Given the description of an element on the screen output the (x, y) to click on. 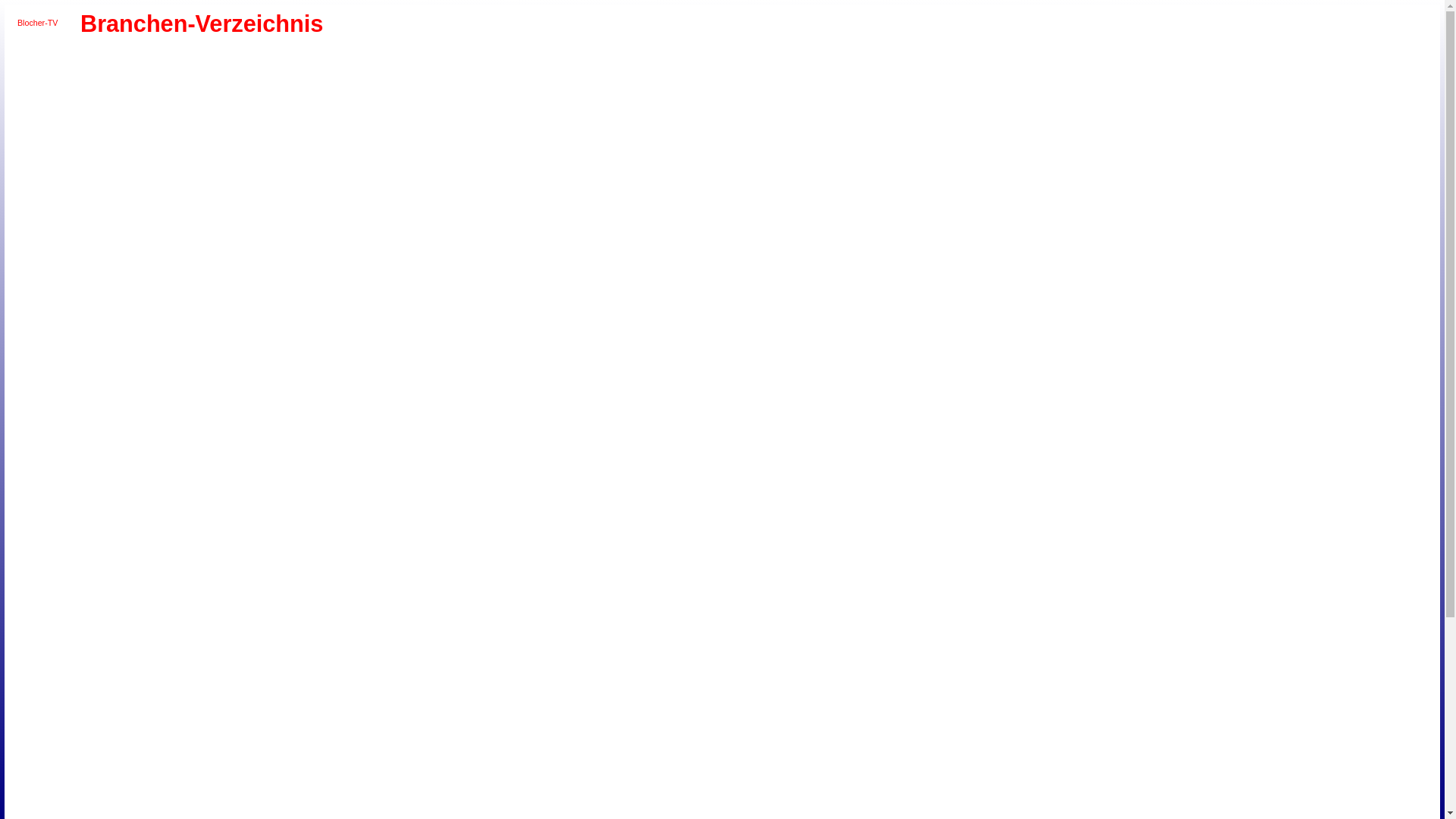
Gasthof Linde  Gelterfingen Restaurant  Element type: hover (494, 513)
Frohsinn Riepl Manfred  Belp Restaurant  Element type: hover (264, 513)
Schmiedstube Kaffeehaus, Bar, Restaurant Thun Restaurant  Element type: hover (335, 793)
Suan Long  Bern Restaurant  Element type: hover (477, 217)
M Restaurant  Freudenberg  Bern Restaurant migros  Element type: hover (140, 182)
Altes Sumpfhaus  Oberburg Restaurant  Element type: hover (87, 653)
Pyramid  Thun Restaurant  Element type: hover (123, 793)
Hier und Jetzt  Bern Restaurant  Element type: hover (370, 130)
nina cucina  Bern Restaurant Partyservice  Element type: hover (158, 287)
Bahnhof Leuenberger Ursula  Kaufdorf Restaurant  Element type: hover (477, 513)
Hospes CCCB  Bern Restaurant  Element type: hover (441, 130)
Landhaus Iseli Hans  Steffisburg Restaurant  Element type: hover (530, 810)
Venezia  Bern Restaurant  Element type: hover (105, 252)
Guntelsey Schneiter Gottfried  Thun Restaurant  Element type: hover (494, 758)
Burgernziel Scartazzini Georges Sa geschl. Bern Restaurant  Element type: hover (282, 77)
Publica  Bern Restaurant  Element type: hover (264, 199)
Fischerei-Park Beyeler Hans (-Diehl)  Worben Restaurant  Element type: hover (193, 566)
SBB Restaurant Grosse Schanze  Bern Restaurant  Element type: hover (176, 234)
Eiger Reusser Andreas  Bern Restaurant  Element type: hover (247, 112)
Bahnhof Simsek Turhan  Toffen Restaurant  Element type: hover (406, 513)
Steinhof Tanner Michaela  Burgdorf Restaurant  Element type: hover (441, 409)
Brasil Steiner Markus  Burgdorf Restaurant  Element type: hover (424, 391)
Irish Tavern Old Pub  Murten Restaurant Bar/Pub  Element type: hover (512, 583)
La Lupa Fernando Chiappini Bern Restaurant  Element type: hover (406, 147)
M-Restaurant Bethlehem  Bern Restaurant migros  Element type: hover (105, 182)
Veranda  Bern Restaurant  Element type: hover (123, 252)
Brunnhof  Bern Restaurant  Element type: hover (211, 77)
Marzilibeach Heinz Rub  Bern Restaurant  Element type: hover (123, 287)
Frohsinn Keller Claudia  Inkwil Restaurant  Element type: hover (176, 636)
Leopard  Bern Restaurant  Element type: hover (158, 165)
National Leuenberger Fam.  Burgdorf Restaurant  Element type: hover (317, 409)
Felsenau Hans u. Marlise Schreyer  Bern Restaurant  Element type: hover (441, 112)
Kornhauskeller  Bern Restaurant  Element type: hover (300, 147)
Kreuz Imper Louis  Lohnstorf Restaurant  Element type: hover (105, 531)
Beaulieu Calvino Manuel  Ostermundigen Restaurant  Element type: hover (317, 304)
Seki Gastro GmbH Restaurant Eintracht  Bern Restaurant  Element type: hover (264, 217)
Falken Hager Robert  Thun Restaurant  Element type: hover (87, 740)
O bolles  Bern Restaurant  Element type: hover (494, 182)
La Torre  Lyss Restaurant  Element type: hover (388, 548)
Kunsteisbahn Grabengut  Thun Restaurant  Element type: hover (229, 775)
Piazzetta  Thun Restaurant  Element type: hover (87, 793)
Meridiano  Bern Restaurant  Element type: hover (512, 165)
Braui  Lyss Restaurant  Element type: hover (282, 548)
Messerestaurant Alte Reithalle  Thun Restaurant  Element type: hover (424, 775)
Bistrot Marzer  Bern Restaurant  Element type: hover (494, 60)
zum Sternen Bigler Bernhard  Oberdiessbach Restaurant  Element type: hover (441, 723)
Bistro Z  Belp Restaurant  Element type: hover (158, 513)
Arcobaleno Perez S.C.  Zollikofen Restaurant  Element type: hover (247, 304)
Bahnhof Sahli Daniel  Kallnach Restaurant  Element type: hover (105, 601)
zum Aeusseren Stand Liechti Gerhard  Bern Restaurant  Element type: hover (370, 252)
Mensa Freies Gymnasium  Bern Restaurant Gymnasium  Element type: hover (494, 217)
Campania  Bern Restaurant  Element type: hover (105, 95)
Peking  Bern Restaurant  Element type: hover (176, 199)
Spiegelpintli Montag geschlossen Spiegel b. Bern Restaurant  Element type: hover (388, 217)
Jansen Gastronomie  Bern Restaurant  Element type: hover (140, 147)
Meried  Niederwangen b. Bern Restaurant  Element type: hover (317, 322)
SV (Schweiz) AG Mensa Berufsschulen Thun Thun Restaurant  Element type: hover (512, 793)
Tscharnergut Elmar Schmutz  Bern Restaurant  Element type: hover (494, 234)
Falken Mancini Simona  Aarberg Restaurant  Element type: hover (335, 583)
McDonald's  Thun Restaurant  Element type: hover (388, 775)
Rossini  Bern Restaurant  Element type: hover (87, 217)
Lorenzini  Bern Restaurant  Element type: hover (229, 165)
Waldrand-Beizli Othmar Zahnd  Thun Restaurant  Element type: hover (176, 810)
M-Restaurant Chly Wabere  Wabern Restaurant migros  Element type: hover (123, 182)
Alpen  Ostermundigen Restaurant  Element type: hover (193, 304)
Weyerli  Bern Restaurant  Element type: hover (424, 287)
Beluga Swiss-Thai-Pub Gwatt (Thun) Restaurant  Element type: hover (441, 740)
La Luna  Bern Restaurant  Element type: hover (370, 147)
Treffpunkt Kaserne Bern Bern Restaurant  Element type: hover (477, 234)
Im Juli  Bern Restaurant  Element type: hover (512, 130)
zur Krone Zilic Adolf  Lyssach Restaurant  Element type: hover (530, 409)
caffessano  Thun Restaurant  Element type: hover (158, 758)
Il Padrino Restaurant Bern Restaurant  Element type: hover (459, 130)
McDonald's  Bern Restaurant  Element type: hover (388, 165)
Badhaus Grgic Ilija  Ittigen Restaurant  Element type: hover (282, 304)
Glungge Kafi Pub  Kirchberg BE Restaurant Bar/Pub  Element type: hover (123, 426)
ds'Bistro  Bolligen Restaurant  Element type: hover (530, 304)
Thalgut Fam. P. Hodler (-Krebs)  Gerzensee Restaurant  Element type: hover (477, 496)
Lachen Cafe Bar Thun Restaurant  Element type: hover (247, 775)
Dampfzentrale GmbH  Bern Restaurant Tischreservation online  Element type: hover (459, 95)
Wildeney Bad  Bowil Restaurant  Element type: hover (441, 670)
Grauholz  Ittigen Restaurant  Element type: hover (247, 130)
Bahnhof Guggisberg Karl  Ramsei Restaurant  Element type: hover (176, 653)
la Gioia  Bern Restaurant  Element type: hover (353, 147)
z. Kreuz Bucheli Peter  Zollikofen Restaurant  Element type: hover (229, 252)
Steingrube Krebs Therese Oberburg Restaurant  Element type: hover (140, 705)
Flugplatz  Bleienbach Restaurant  Element type: hover (105, 391)
Blockhaus  Niederried b. Kallnach Restaurant  Element type: hover (123, 601)
Union  Bern Restaurant  Element type: hover (530, 234)
Sagi Pub  Bolligen Restaurant Bar/Pub  Element type: hover (264, 287)
Casino Bern  Bern Restaurant casino  Element type: hover (211, 95)
Adler  Riggisberg Restaurant  Element type: hover (176, 531)
Stockeren Cafe-Restaurant Wichtrach Restaurant  Element type: hover (459, 217)
Kreuz Wallimann Susanne  Oberhofen am Thunersee Restaurant  Element type: hover (211, 775)
z. Sternen Bill Erika Sa + So geschl. Hindelbank Restaurant  Element type: hover (264, 618)
Chin-Chin  Burgdorf Restaurant  Element type: hover (87, 409)
Rimini Trattoria Renzi Claudio  Thun Restaurant  Element type: hover (247, 793)
Restaubistrobar gut gelaunt Ralf Jansen  Bern Restaurant  Element type: hover (353, 199)
McDonald's  Bern Restaurant  Element type: hover (424, 165)
Restaurant Grosse Schanze  Bern Restaurant  Element type: hover (264, 234)
Sternen Sternenzentrum Walkringen Walkringen Restaurant  Element type: hover (300, 723)
Oase Filisetti Doris Kirchberg BE Restaurant  Element type: hover (158, 426)
Road Cafe  Lyss Restaurant  Element type: hover (494, 548)
Restaurant Storchen   Wiler b. Utzenstorf Restaurant  Element type: hover (87, 444)
Bistro Bruno  Bern Restaurant  Element type: hover (424, 60)
Utiger Tschumi Adrian Mi geschl. Moosseedorf Restaurant  Element type: hover (158, 304)
Menziwilegg AG Fam. D. Arm (-Liechti)  Utzigen Restaurant  Element type: hover (512, 461)
Gyri Berisa Agatha  Burgdorf Restaurant  Element type: hover (229, 409)
Eisblume  Worb Restaurant  Element type: hover (140, 479)
Ischlag Fam. Morgenthaler  Grasswil Restaurant Tea-Room  Element type: hover (424, 374)
Spatz Bangerter Regina Hotel Lyss Restaurant  Element type: hover (548, 548)
Swiss Bistro Rodrigues Nobrega  Lyss Restaurant  Element type: hover (87, 566)
Classic Bar  Bern Restaurant  Element type: hover (335, 95)
Drei Eidgenossen  Bern Restaurant  Element type: hover (370, 269)
Groggi Tea Room Herzogenbuchsee Restaurant  Element type: hover (441, 618)
Cafe Rotondo  Thun Restaurant  Element type: hover (87, 758)
La Terrasse  Bern Restaurant  Element type: hover (477, 147)
Musig-Bistrot Monbijou  Bern Restaurant  Element type: hover (282, 182)
Sommerhaus  Burgdorf Restaurant  Element type: hover (406, 409)
El Dorado Gasthof So. geschl. Utzigen Restaurant  Element type: hover (477, 461)
Shams El Baqqali Rachid  Bern Restaurant  Element type: hover (282, 217)
Il Ristorantino  Bern Restaurant  Element type: hover (494, 130)
Serendib /Scharfen Ecken So-Mo Gesch. Burgdorf Restaurant  Element type: hover (388, 409)
Primavera Emini Agim  Thun Restaurant  Element type: hover (105, 793)
Rebstock Besim Asani  Zollikofen Restaurant  Element type: hover (370, 322)
Carpe diem Bistro Bern Restaurant  Element type: hover (123, 95)
Toutvent AG Restaurationsbetriebe  Thun Restaurant  Element type: hover (335, 810)
Gasthof zur Linde Knab Peter 7 Tage offen Belp Restaurant  Element type: hover (282, 513)
Taipan  Thun Restaurant  Element type: hover (530, 793)
Noodles Casa Della Pasta Thun Restaurant  Element type: hover (530, 775)
Rathaus  Thun Restaurant  Element type: hover (176, 740)
Du Nord  Bern Restaurant  Element type: hover (176, 112)
Blocher-TV Element type: text (37, 22)
Restaurant Storchen  Wiler b. Utzenstorf Restaurant  Element type: hover (105, 444)
Hooters Restaurant  Thun Restaurant  Element type: hover (105, 775)
Freienhof Gasthof Fam. Th. Schelling  Hellsau Restaurant  Element type: hover (123, 444)
zu Metzgern Mo geschl. Thun Restaurant  Element type: hover (264, 810)
Truten-Pintli  Detligen Restaurant  Element type: hover (459, 339)
Burehuus  Thun Restaurant  Element type: hover (512, 740)
Aarbergerhof  Bern Restaurant  Element type: hover (158, 269)
Personalrestaurant Post Schanzenpost  Bern Restaurant  Element type: hover (512, 217)
zum Tempel  Thun Restaurant  Element type: hover (300, 810)
Commerce A. u. R. Pacheco  Bern Restaurant  Element type: hover (353, 95)
Panorama Fuchs Karl Mo u. Di geschl. Steffisburg Restaurant  Element type: hover (370, 810)
Restaurant Ratskeller  Bern Restaurant  Element type: hover (406, 199)
Pastificeria La Tavola  Bern Restaurant  Element type: hover (140, 199)
Tien Tien  Bern Restaurant  Element type: hover (424, 234)
Sonne Iseli Beat  Kallnach Restaurant  Element type: hover (193, 601)
Thai's Restaurant Keller Jaree  Bern Restaurant  Element type: hover (370, 234)
Restaurant Treffpunkt  Bern Restaurant  Element type: hover (193, 147)
Bad Stauffer Willy (-Delfini)  Herzogenbuchsee Restaurant  Element type: hover (370, 618)
Sternen Steuri Peter  Langnau i. E. Restaurant  Element type: hover (335, 670)
Kreuz Wyss Heidi (-Hauert)  Grossaffoltern Restaurant  Element type: hover (477, 566)
Bistro-Bar 106,0 MHZ  Langnau i. E. Restaurant  Element type: hover (264, 653)
Bahnhofbuffet Espresso  Burgdorf Restaurant  Element type: hover (370, 391)
Rendez-vous Walther Priska  Wangen an der Aare Restaurant  Element type: hover (300, 636)
Tanne  Zollikofen Restaurant  Element type: hover (406, 339)
M-Restaurant Marktgasse  Bern Restaurant migros  Element type: hover (158, 182)
Manora Jura  Bern Restaurant  Element type: hover (370, 165)
Gasthof Rosegg Glanzmann Beat  Schangnau Restaurant  Element type: hover (406, 653)
Platanenhof Gerardo Petrilli Kirchberg BE Restaurant  Element type: hover (176, 426)
Morillon  Bern Restaurant  Element type: hover (229, 182)
Tivoli Dogar GmbH  Worblaufen Restaurant  Element type: hover (459, 234)
Ka-We-De Sportgastro GmbH  Bern Restaurant  Element type: hover (229, 147)
Kirchenfeld Rota Maurice und Charlotte  Bern Restaurant  Element type: hover (247, 147)
Eintracht Gataric Nenad  Bern Restaurant  Element type: hover (264, 112)
McDonald's  Bern Restaurant  Element type: hover (406, 165)
Romantic  Thun Restaurant  Element type: hover (264, 793)
Zum blauen Engel  Bern Restaurant  Element type: hover (406, 252)
zum Bahnhof Tschanz Margreth Gasthof Brenzikofen Restaurant  Element type: hover (406, 723)
Sonne Graber Bernhard (-Henggi)  Aarberg Restaurant  Element type: hover (229, 583)
Beau Rivage Domenico Zaccaria GmbH  Thun Restaurant  Element type: hover (512, 723)
Smart Suko Rolli Gabriele u. Rolli Ricardo  Bern Restaurant  Element type: hover (300, 217)
Grill-Egge Marti  Bern Restaurant Tea-Room  Element type: hover (494, 269)
zum Seefeld Wyss Annemarie  Thun Restaurant  Element type: hover (282, 810)
Spinnrad Steiner Markus  Bern Restaurant  Element type: hover (406, 217)
Sternen Weibel Walter Metzger  Dotzigen Restaurant  Element type: hover (370, 356)
Sternen  Konolfingen Restaurant  Element type: hover (282, 723)
Fulehung Pizzeria-Trattoria Thun Restaurant Pizza  Element type: hover (459, 758)
Luce  Bern Restaurant  Element type: hover (282, 165)
DIXIE Chez Salah Bern Restaurant  Element type: hover (87, 112)
Kreuz Burkhalter Fritz  Ersigen Restaurant  Element type: hover (282, 426)
Sous Soul Restaurant Bar Club Bern Restaurant  Element type: hover (335, 217)
Chinois Peking  Bern Restaurant  Element type: hover (282, 95)
Arts  Thun Restaurant  Element type: hover (335, 740)
Alpenblick von Planta Silvio (-Schneiter)  Thun Restaurant  Element type: hover (247, 740)
Post Moser Anna-Marie  Dieterswil Restaurant  Element type: hover (424, 566)
Newstyle Restaurant Tanaka  Kehrsatz Restaurant  Element type: hover (441, 182)
Casa Novo GmbH  Bern Restaurant  Element type: hover (193, 95)
Vatter Der logische Supermarkt Bern Restaurant Bioprodukte  Element type: hover (548, 234)
Im Visier GmbH  Thun Restaurant  Element type: hover (123, 775)
Restaurants Ascom  Bern Restaurant  Element type: hover (353, 287)
Strandbad Thun Goetz Roger  Thun Restaurant Strandbad  Element type: hover (494, 793)
Mani's coffee + wine bar GmbH  Thun Restaurant  Element type: hover (353, 775)
Bitter Sweet Bar Bern Restaurant  Element type: hover (530, 60)
Kreuz Bucheli Peter  Zollikofen Restaurant  Element type: hover (211, 322)
Emberg zur Pinte  Steffisburg Restaurant  Element type: hover (494, 810)
Azzurro Terra e Mare  Bern Restaurant  Element type: hover (140, 60)
Kreuz Raemy Daniel  Kappelen Restaurant  Element type: hover (477, 583)
Hasle-Pinte Oester Ernst  Hasle b. Burgdorf Restaurant  Element type: hover (459, 653)
Cafe-Bar Sous-Sol  Bern Restaurant  Element type: hover (548, 77)
Frohsinn Schmid Petra (-Hartmann)  Willadingen Restaurant  Element type: hover (317, 426)
Coffee-Shop 'Young'  Burgdorf Restaurant  Element type: hover (123, 409)
Sportplatz Sportverein Wander AG  Bern Restaurant  Element type: hover (441, 217)
zur Linden Thierstein Urs  Linden Restaurant  Element type: hover (477, 723)
Linde  Kaufdorf Restaurant  Element type: hover (512, 513)
Laufenbad Krainer Rudolf  Krauchthal Restaurant  Element type: hover (229, 322)
Bahnhof Doris Blindenbacher  Oberburg Restaurant  Element type: hover (158, 653)
Tam Nak Thai  Oberburg Restaurant  Element type: hover (370, 670)
zur alten Post Familie Pengsakul-Spycher  Bern Restaurant  Element type: hover (441, 252)
Seeland Beizli  Suberg Restaurant  Element type: hover (530, 566)
Brunnenhof Grill Zelimir Ivankovic  Element type: hover (176, 618)
Peking  Bern Restaurant  Element type: hover (158, 199)
Selina Gastro Thun GmbH Express 2001  Thun Restaurant  Element type: hover (406, 793)
Schwimmbad Kiosk  Kirchberg BE Restaurant Schwimmbad  Element type: hover (211, 426)
National Petrovic Milan  Herzogenbuchsee Restaurant  Element type: hover (477, 618)
Il Caffe  Langnau i. E. Restaurant  Element type: hover (512, 653)
A1 Western Saloon GmbH  Ostermundigen Restaurant  Element type: hover (264, 304)
zur Pinte  Jegenstorf Restaurant  Element type: hover (388, 374)
zur Linde Brudermann Peter  Kirchlindach Restaurant  Element type: hover (512, 339)
Kreuz Fam. W. Kunz (-Gassmann)  Grafenried Restaurant  Element type: hover (317, 601)
BURGER KING Direkt am Hauptbahnhof SBB Bern Restaurant  Element type: hover (264, 77)
Interstate Bar Bern Restaurant  Element type: hover (87, 147)
Dream Valley Saloon Fam. Fahrni  Schwarzenegg Restaurant  Element type: hover (335, 758)
Casino Mi-So ab 17h Burgdorf Restaurant casino  Element type: hover (548, 391)
Kreuz  Dotzigen Restaurant  Element type: hover (388, 356)
Murizentrum Zwingli Ella  Muri b. Bern Restaurant  Element type: hover (353, 322)
z. Hirschen Heiniger Willy  Riffenmatt Restaurant  Element type: hover (176, 548)
Rosegg Gasthof Glanzmann Beat  Schangnau Restaurant  Element type: hover (211, 670)
Rieben  Burgdorf Restaurant  Element type: hover (335, 409)
Seepark  Thun Restaurant  Element type: hover (388, 793)
Harmonie Jeker Marlise  Wiler b. Seedorf Restaurant  Element type: hover (123, 583)
Sonne Schori Peter Mi u. Do geschl. Messen Restaurant  Element type: hover (282, 566)
Sportgastro GmbH  Bern Restaurant  Element type: hover (424, 217)
M-Restaurant Wankdorf  Bern Restaurant migros  Element type: hover (176, 182)
Greenhouse Imboden Roland  Bern Restaurant  Element type: hover (264, 130)
Kreuz-Pintli Galli Rosmarie  Rubigen Restaurant  Element type: hover (229, 479)
Waisenhaus Ristorante Bar Thun Restaurant  Element type: hover (158, 810)
Zebra Lilo Gsell  Bern Restaurant  Element type: hover (264, 252)
Intersport  Ostermundigen Restaurant  Element type: hover (176, 322)
Krummholzbad Familie Sommer  Heimisbach Restaurant  Element type: hover (335, 444)
Kreuz  Herzogenbuchsee Restaurant  Element type: hover (459, 618)
Kalchofen Gasthof  Amstutz U.  Hasle b. Burgdorf Restaurant  Element type: hover (370, 688)
Hirschen  Seedorf BE Restaurant  Element type: hover (140, 583)
Treff Tennishalle Thun  Thun Restaurant  Element type: hover (123, 810)
ElfenauPark  Bern Restaurant  Element type: hover (300, 112)
Memo Keskin Zeynep  Thun Restaurant  Element type: hover (406, 775)
Bevina, Station Neufeld Nguyen Van Lang  Bern Restaurant  Element type: hover (388, 60)
tibits Restaurant - Bar - Take-Away Bern Restaurant  Element type: hover (388, 234)
Restaurant Turm Markus Huber Gastro GmbH Thun Restaurant  Element type: hover (229, 793)
Waldheim  Bern Restaurant  Element type: hover (176, 252)
L'Isola Bar-Ristorante GmbH  Thun Restaurant  Element type: hover (317, 775)
Brasserie du Parc  Thun Restaurant  Element type: hover (494, 740)
Aemme Beizli Brunner Ulrich  Emmenmatt Restaurant  Element type: hover (530, 636)
Wein und Sein Blum Beat  Bern Restaurant  Element type: hover (370, 287)
Manora  Thun Restaurant  Element type: hover (370, 775)
Rosengarten Restaurant  Bern Restaurant  Element type: hover (548, 199)
Festhalle Willi Maier  Bern Restaurant  Element type: hover (459, 112)
Commerce Peter M. Hurni  Aarberg Restaurant  Element type: hover (317, 583)
Schwanen Theodor Studer Mo geschl.  Alchenstorf Restaurant  Element type: hover (512, 688)
Longstreet Kathrin Stucki  Bern Restaurant  Element type: hover (211, 165)
Alte Reithalle  Thun Restaurant  Element type: hover (300, 740)
Bistro Fam. Egli  Allmendingen b. Bern Restaurant Tea-Room  Element type: hover (282, 496)
Calypso Hubacher Ruedi  Bern Restaurant  Element type: hover (335, 269)
Schuetzenhouse  Wiedlisbach Restaurant  Element type: hover (317, 636)
Warteck Maeder Martin  Burgdorf Restaurant  Element type: hover (459, 409)
Ruen Thai Dolder Patrik  Ostermundigen Restaurant  Element type: hover (123, 217)
Kongress-Zentrum Kreuz Bern  Bern Restaurant  Element type: hover (530, 252)
Rendez-vous Helmut u. Ana-Maria Witsch Bern Restaurant  Element type: hover (335, 199)
Havanna Tapas AG  Thun Restaurant Bar/Pub  Element type: hover (548, 758)
Schloss-Schadau Friedli Guy Schadaupark  Thun Restaurant  Element type: hover (317, 793)
Oberli Oberli Samuel  Walliswil b. Niederbipp Restaurant  Element type: hover (264, 636)
Kaffee Kager  Wynigen Restaurant  Element type: hover (530, 653)
Restaurant Engehalde PostFinance  Bern Restaurant  Element type: hover (87, 234)
Nudelhaus Monbijou  Bern Restaurant  Element type: hover (477, 182)
Tanne Theres u. Urs Moser  Aeschau Restaurant  Element type: hover (388, 670)
Fugu Nydegg Restaurant u. Bar Bern Restaurant  Element type: hover (123, 130)
Bistrot Morillon  Bern Restaurant  Element type: hover (512, 60)
Da Carlo Betrieb der Gastrag Basel Bern Restaurant  Element type: hover (406, 95)
Bistro ONE Spahr Rosmarie  Bern Restaurant  Element type: hover (459, 60)
Krone  Bern Restaurant  Element type: hover (317, 147)
Rosengarten  Bern Restaurant  Element type: hover (530, 199)
Munzur Karaman Ali Haydar  Thun Restaurant  Element type: hover (494, 775)
McDonald's  Lyss Restaurant  Element type: hover (441, 548)
Taipan  Thun Restaurant  Element type: hover (548, 793)
San Marco  Wabern Restaurant  Element type: hover (282, 287)
Zur alten Post Familie Pengsakul-Spycher  Bern Restaurant  Element type: hover (459, 252)
zur Gerbern Pfeiffer Bolko und Ursula  Burgdorf Restaurant  Element type: hover (494, 409)
Astra Restaurant Steffisburg Restaurant  Element type: hover (353, 740)
SCALA  Bern Restaurant  Element type: hover (300, 287)
Hirschen Van Grondelle Harry u. Marlise  Aarberg Restaurant  Element type: hover (353, 583)
Beaujolais  Bern Restaurant  Element type: hover (282, 60)
Restaurant Glockental  Steffisburg Restaurant  Element type: hover (548, 810)
Enjoy Take-away Bern Restaurant  Element type: hover (353, 112)
Bell Catering  Bern Restaurant Partyservice  Element type: hover (247, 269)
Hirschen  Krauchthal Restaurant  Element type: hover (317, 618)
Walliserkanne Rrahmani Zeinep  Thun Restaurant  Element type: hover (193, 810)
Restaurant Oelpintli  Bern Restaurant  Element type: hover (229, 234)
Landgasthof Lueg  Kaltacker Restaurant  Element type: hover (441, 688)
Beaulieu Rebmann Doris  Bern Restaurant  Element type: hover (300, 60)
Hier und Jetzt  Bern Restaurant  Element type: hover (388, 130)
Rio  Bern Restaurant  Element type: hover (459, 199)
Restaurant Bruno  Bern Restaurant  Element type: hover (388, 199)
Thuner Bierhalle Restaurant Thun Restaurant  Element type: hover (87, 810)
Verdi Ristorante Bar Enoteca Bern Restaurant  Element type: hover (140, 252)
Thun 2 Rosenau Briefzentrum Sekretariat Thun Restaurant  Element type: hover (158, 740)
Cowboys Swiss Gastro GmbH  Bern Restaurant  Element type: hover (370, 95)
Graffiti Pintaric Iva  Wabern Restaurant  Element type: hover (193, 130)
Restaurant Oelpintli  Bern Restaurant  Element type: hover (105, 234)
Flo's Restaurant  Bern Restaurant  Element type: hover (530, 112)
Ingredienza GmbH der Laden  Bern Restaurant  Element type: hover (530, 269)
Le Mazot  Bern Restaurant  Element type: hover (548, 147)
Tennishalle Burgdorf AG  Burgdorf Restaurant Tenniscenter  Element type: hover (300, 391)
MMM Zentrum Oberland  Thun Restaurant migros  Element type: hover (441, 775)
Treffpunkt Bar Herzogenbuchsee Restaurant  Element type: hover (530, 618)
Song Hy  Bern Restaurant  Element type: hover (317, 217)
Restaurant Engehalde PostFinance  Bern Restaurant  Element type: hover (211, 234)
Leichtsinn - Lounge Bar  Bern Restaurant  Element type: hover (123, 165)
Martinazzi's Fine Cuisine  Kallnach Restaurant  Element type: hover (140, 601)
Alpen Restaurant  Ostermundigen Restaurant  Element type: hover (211, 304)
Drei Eidgenossen Schluep Bernhard  Bern Restaurant  Element type: hover (388, 269)
zum Neuhaus Nobs-Schneider Barbara  Dieterswil Restaurant  Element type: hover (441, 566)
Restaurant Patio WKS KV Bern  Bern Restaurant  Element type: hover (123, 234)
Specht Stettler Daniel  Bern Restaurant  Element type: hover (370, 217)
Neufeld Iseli Ernst Mittwoch geschlossen Thun Restaurant  Element type: hover (512, 775)
MMM Zentrum Oberland  Thun Restaurant  Element type: hover (229, 810)
Kreuz  Thun Restaurant  Element type: hover (123, 740)
Gade Borter Stephan  Hettiswil b. Hindelbank Restaurant  Element type: hover (282, 618)
Capriccio Andrea u. Liliana Siragusa  Zollikofen Restaurant  Element type: hover (406, 304)
Restaurant Chutzen Mo.+Di. geschlossen Belpberg Restaurant  Element type: hover (317, 356)
Bahnhof Keller Adrian  Kiesen Restaurant  Element type: hover (512, 705)
Lisboa  Bern Restaurant  Element type: hover (193, 165)
Sattelkammer Corpataux Peter  Langnau i. E. Restaurant  Element type: hover (300, 670)
Merkur AG  Worb Restaurant  Element type: hover (264, 479)
Eleven Restaurant, Bar, Lounge Bern Restaurant  Element type: hover (282, 112)
Frohsinn Equati Ramon  Thun Restaurant  Element type: hover (441, 758)
Lotos  Lyss Restaurant  Element type: hover (406, 548)
Cafe 22  Fraubrunnen Restaurant  Element type: hover (388, 601)
Personalrestaurant Unia  Bern Restaurant  Element type: hover (548, 217)
Boky Doan Quoi Tam  Bern Restaurant  Element type: hover (105, 77)
Waldeck Dolder Patrik  Ostermundigen Restaurant  Element type: hover (158, 252)
Traube Oberli Ernst (-Roth)  Grossaffoltern Restaurant  Element type: hover (512, 566)
Zunft zu Webern  Bern Restaurant  Element type: hover (424, 252)
MEKONG BEIZLI HUYNH  Bern Restaurant  Element type: hover (494, 165)
Spaghetti Factory  Bern Restaurant  Element type: hover (353, 217)
Bistretto  Bern Restaurant Tea-Room  Element type: hover (406, 60)
Kiora Restaurant & Bar  Belp Restaurant  Element type: hover (193, 513)
Eisblume  Worb Restaurant  Element type: hover (158, 479)
M Restaurant Winkelried  Bern Restaurant migros  Element type: hover (87, 182)
Bistro Fininger Beat Di-Mi 17h geschl. Burgdorf Restaurant  Element type: hover (388, 391)
Piazzetta Restaurant-Bar/Snack  Thun Restaurant  Element type: hover (247, 810)
Arcobaleno Sabrina Casaluci  Arch Restaurant  Element type: hover (105, 374)
la Rotonda Alessio D'Alfonso Bern Restaurant  Element type: hover (441, 147)
Cavallino B. Mersini  Gwatt (Thun) Restaurant  Element type: hover (247, 758)
Restaurant Patio WKS KV Bern  Bern Restaurant  Element type: hover (247, 234)
Caffessano AG  Thun Restaurant  Element type: hover (176, 758)
Bruno  Bern Restaurant  Element type: hover (229, 77)
Casa Marcello Gisela Michel  Bern Restaurant  Element type: hover (176, 95)
Rendez-vous Hirsig Erika  Thun Restaurant  Element type: hover (140, 793)
Eichholz  Wabern Restaurant  Element type: hover (229, 112)
zur Frohen Aussicht  Zollikofen Restaurant  Element type: hover (317, 339)
Kreuz Kurz Hans-Rud. (-Haldemann)  Worb Restaurant  Element type: hover (211, 479)
Engel Restaurant  Thun Restaurant  Element type: hover (370, 758)
SBB Bistro Weyermanshaus  Bern Restaurant  Element type: hover (158, 234)
MEKONG BEIZLI HUYNH  Bern Restaurant  Element type: hover (459, 165)
Brasserie Lorraine Genossenschaft Bern Restaurant  Element type: hover (158, 77)
Nelson Pub/ Bar Bern Restaurant  Element type: hover (388, 182)
Dalun  Bern Restaurant  Element type: hover (424, 95)
Galaxy Restaurants  Bern Restaurant  Element type: hover (459, 269)
Baumgarten  Bern Restaurant  Element type: hover (247, 60)
Falken  Bern Restaurant  Element type: hover (406, 112)
Kreuz und Baggervermietung  Gohl Restaurant  Element type: hover (388, 688)
Allmendhof Rosmarie Wenger  Thun Restaurant  Element type: hover (229, 740)
Sonne Reber Hansruedi  Biglen Restaurant  Element type: hover (264, 723)
HAN Mongolian Barbecue Thun Restaurant  Element type: hover (530, 758)
Imbissstube Keskin Zeynep  Thun Restaurant  Element type: hover (140, 775)
Engel zum blauen Engel Bern Restaurant  Element type: hover (335, 112)
Cristall Stettler und Jung  Burgdorf Restaurant  Element type: hover (140, 409)
Kreuz Bigler Therese  Aarberg Restaurant  Element type: hover (388, 583)
z. Kreuz Eyer Walter Mo+Di geschl.  Belpberg Restaurant  Element type: hover (335, 356)
Bahnhof Station Worb SBB Zaugg Beat  Worb Restaurant  Element type: hover (105, 479)
Express-Buffet Valora AG  Konolfingen Restaurant  Element type: hover (548, 705)
Borisried Rothen Fritz (-Moser)  Oberbalm Restaurant  Element type: hover (388, 479)
Wandee Thai-Restaurant Herzogenbuchsee Restaurant  Element type: hover (548, 618)
Terrasse Tea-Room Bajrami Sadik Bern Restaurant  Element type: hover (317, 234)
Bahnhof Werren Beatrix Mo geschl. Signau Restaurant  Element type: hover (193, 653)
Staffel Landgasthof Jegenstorf Restaurant  Element type: hover (335, 374)
Bluecafe Rossier Carole-Anne  Bern Restaurant  Element type: hover (87, 77)
Castle-Club Conti Sigrid  Bern Restaurant  Element type: hover (229, 95)
Bahnhofbuffet Thun  Thun Restaurant  Element type: hover (388, 740)
Lehmann's Restaurant Lehmann Daniel  Bern Restaurant  Element type: hover (105, 165)
Gwattstern Gwatt-Zentrum  Gwatt (Thun) Restaurant  Element type: hover (512, 758)
Restaurant Pintli  Meienried Restaurant  Element type: hover (530, 356)
Jeap's Thai Restaurant Roger Windler  Thun Restaurant  Element type: hover (158, 775)
Palette Videira Manuel und Estewao Jose  Bern Restaurant  Element type: hover (548, 182)
Seven Pusat Derya  Thun Restaurant  Element type: hover (424, 793)
Schwarzenburger Stube  Schwarzenburg Restaurant  Element type: hover (406, 531)
zum alten Amthaus Corpataux Peter  Langnau i. E. Restaurant  Element type: hover (176, 688)
Neals Hamburgers Mutzenburger AG  Bern Restaurant  Element type: hover (370, 182)
Bellevue-Palace Grill-Bar Bern Restaurant  Element type: hover (370, 60)
